Given the description of an element on the screen output the (x, y) to click on. 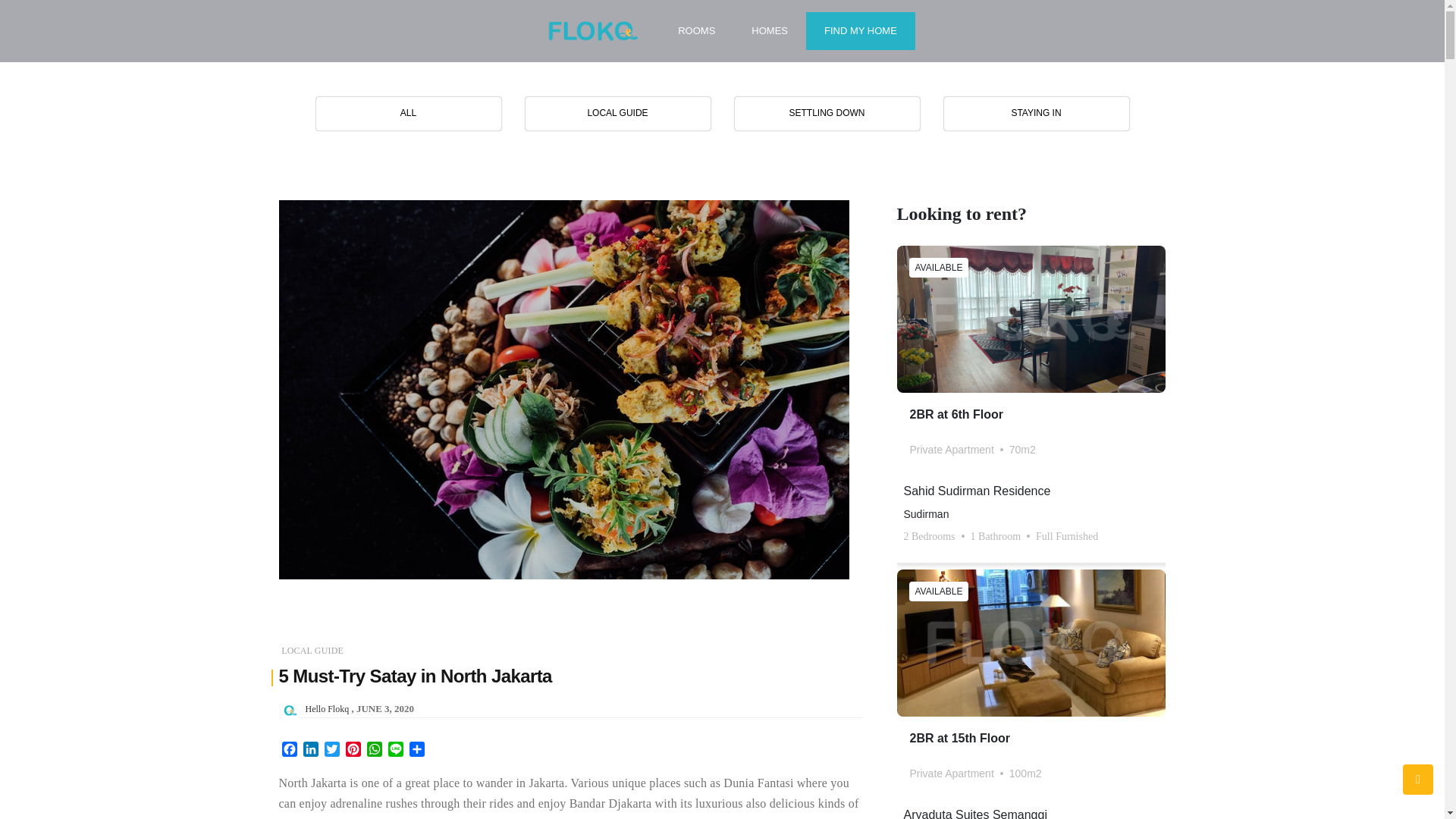
Pinterest (353, 751)
Twitter (331, 751)
LinkedIn (310, 751)
Line (395, 751)
Homes (769, 30)
LOCAL GUIDE (312, 650)
WhatsApp (374, 751)
ALL (407, 113)
WhatsApp (374, 751)
SETTLING DOWN (826, 113)
Find My Home (860, 30)
Line (395, 751)
Facebook (289, 751)
STAYING IN (1035, 113)
FIND MY HOME (860, 30)
